Given the description of an element on the screen output the (x, y) to click on. 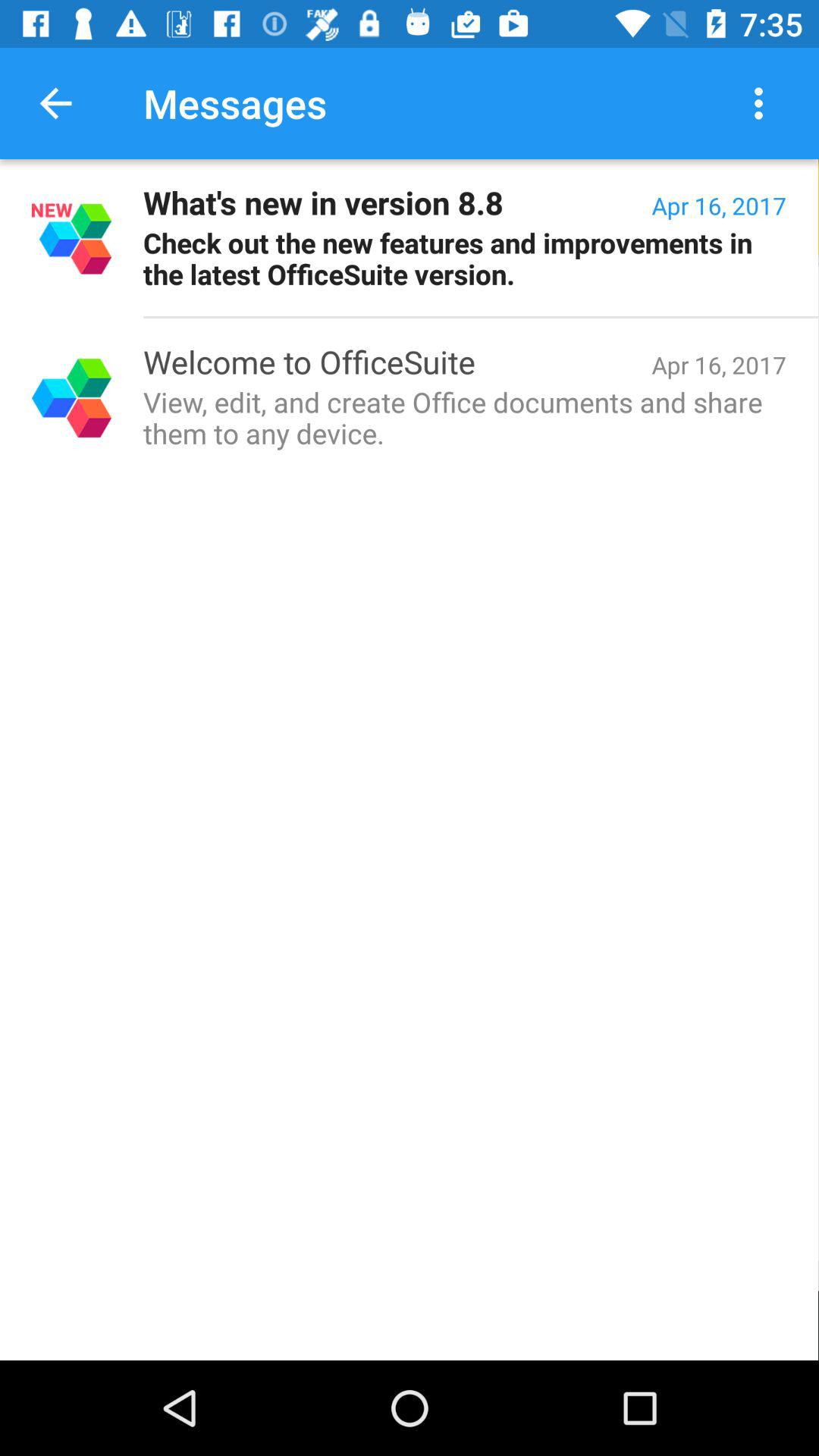
click app to the left of messages (55, 103)
